Given the description of an element on the screen output the (x, y) to click on. 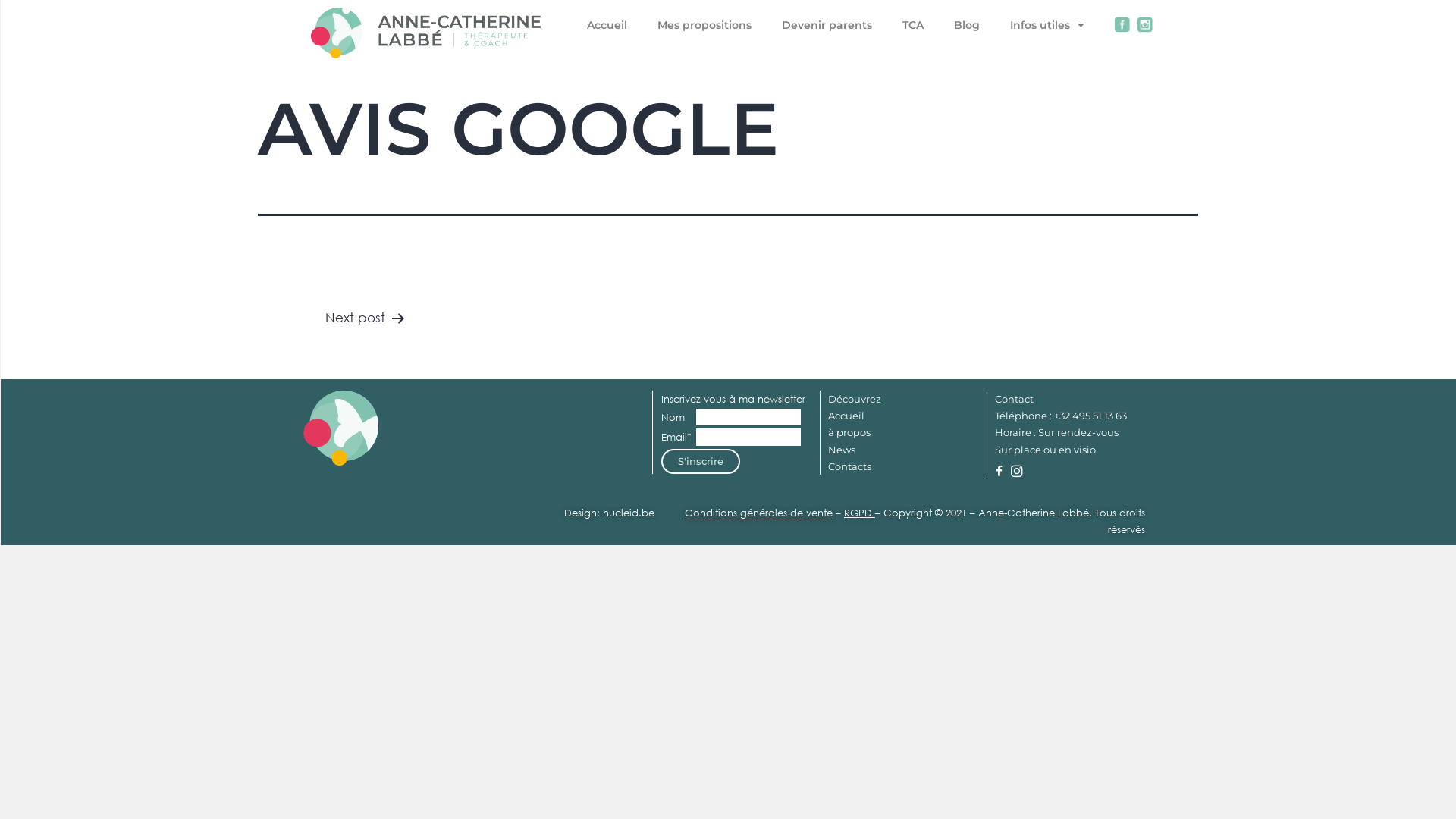
RGPD Element type: text (858, 512)
Infos utiles Element type: text (1046, 24)
nucleid.be Element type: text (628, 512)
Mes propositions Element type: text (704, 24)
Next post
Avis Google Element type: text (332, 331)
Blog Element type: text (966, 24)
TCA Element type: text (912, 24)
Accueil Element type: text (846, 415)
Accueil Element type: text (606, 24)
News Element type: text (841, 449)
S'inscrire Element type: text (700, 461)
Contacts Element type: text (849, 466)
Devenir parents Element type: text (826, 24)
